Given the description of an element on the screen output the (x, y) to click on. 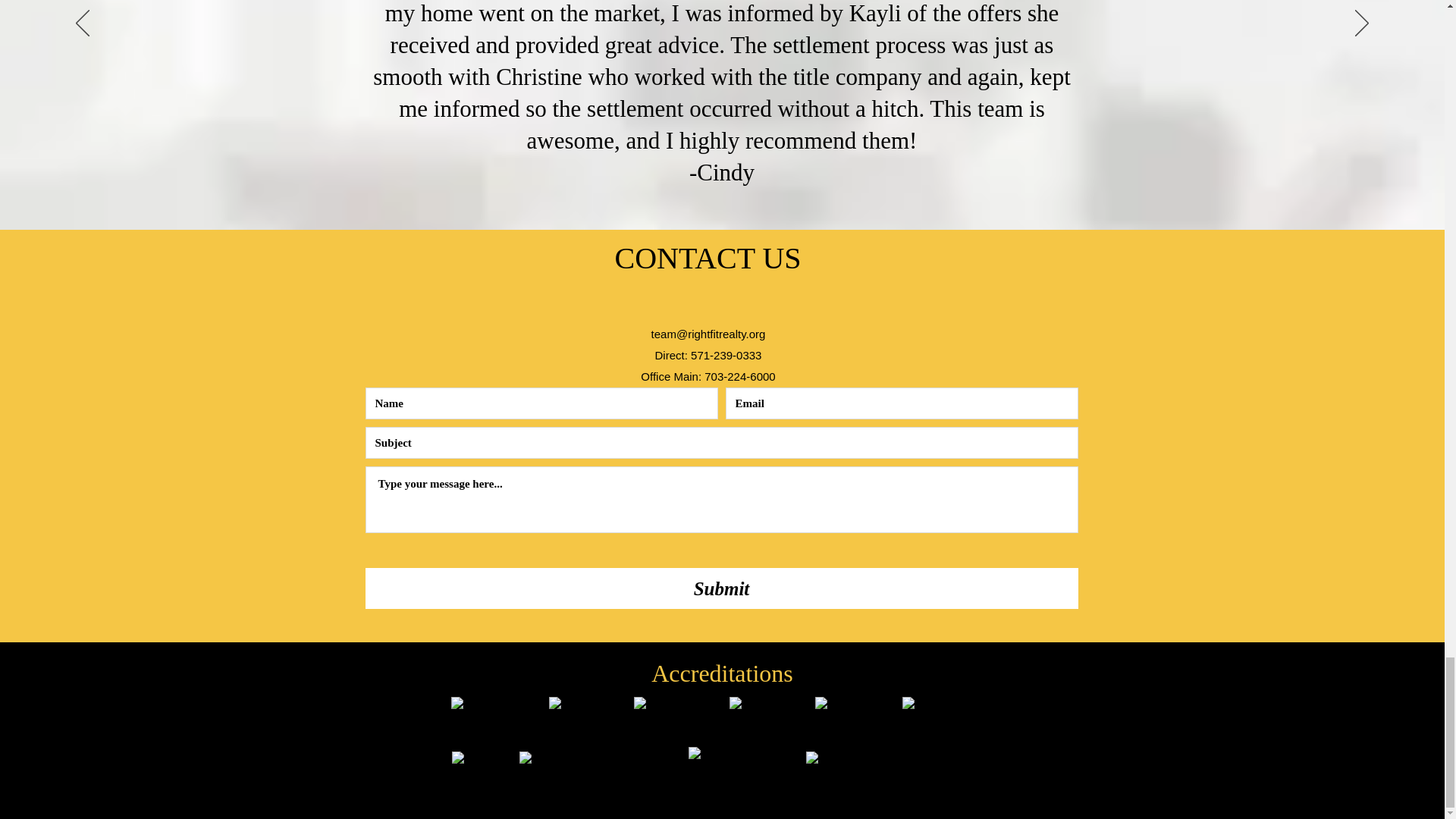
Submit (721, 588)
